Given the description of an element on the screen output the (x, y) to click on. 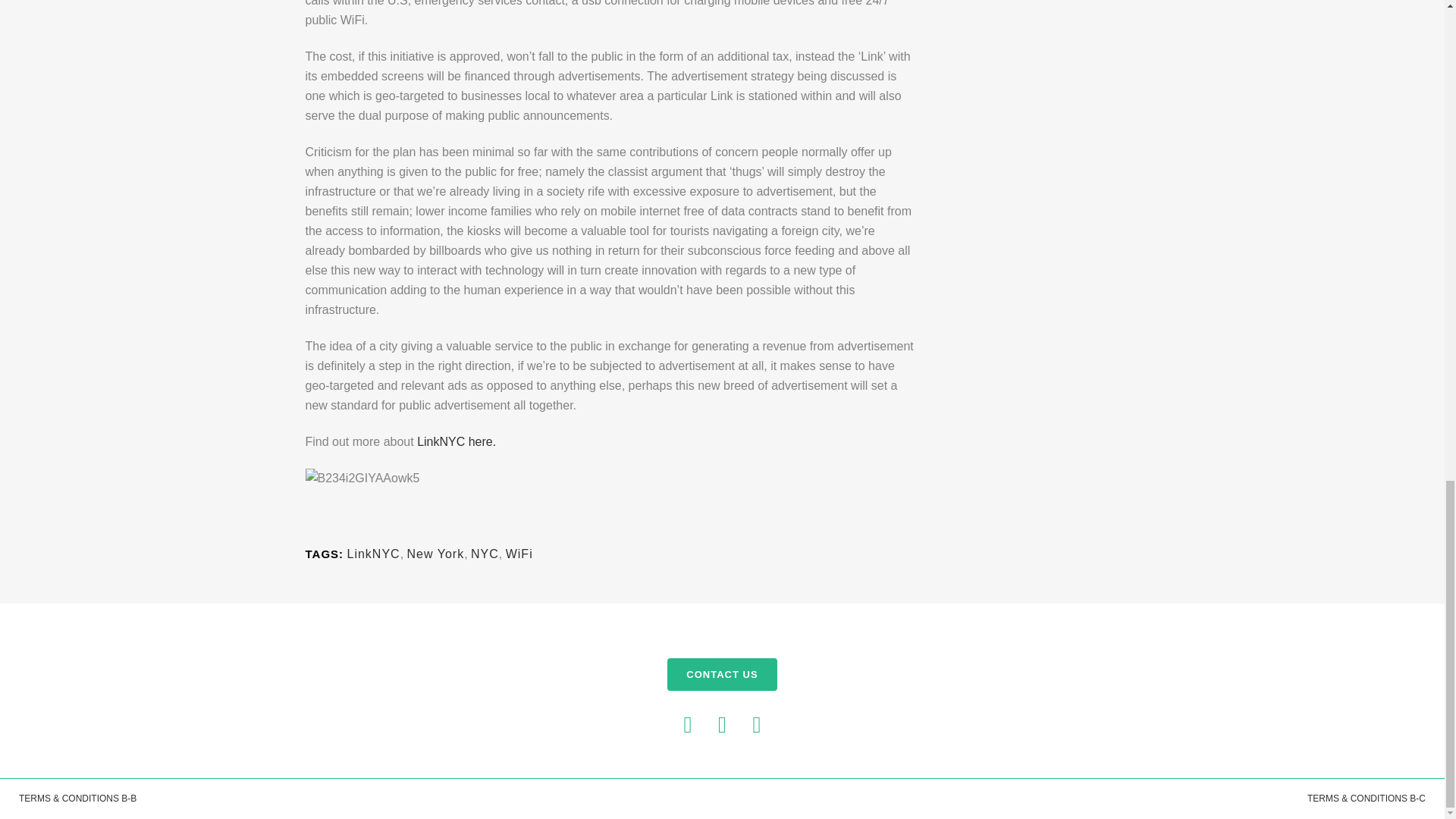
LinkNYC (373, 553)
WiFi (518, 553)
CONTACT US (721, 674)
LinkNYC here. (456, 440)
New York (435, 553)
NYC (484, 553)
